Given the description of an element on the screen output the (x, y) to click on. 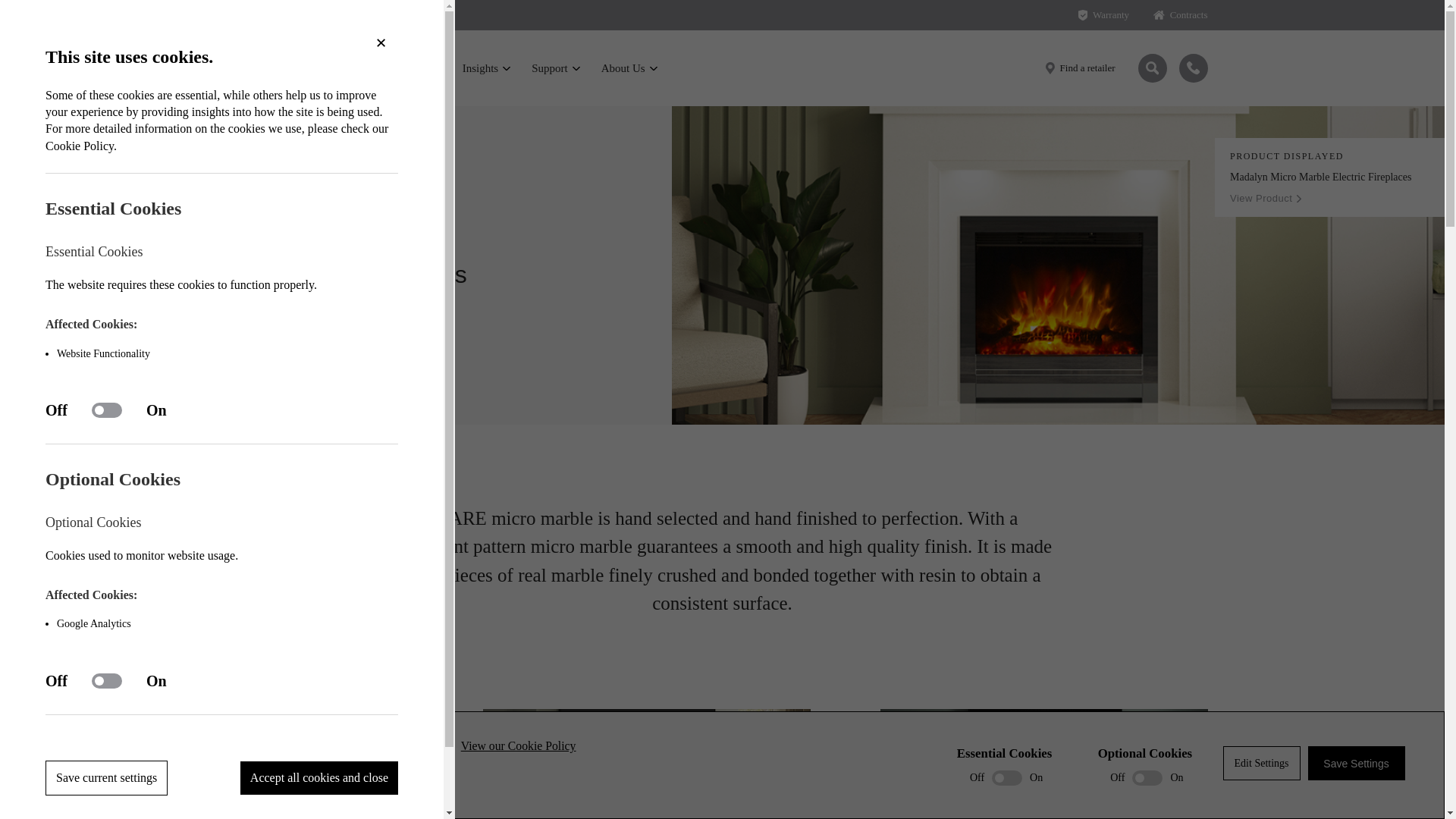
Return to the Be Modern Homepage (289, 67)
Contact us today (1192, 68)
Contracts (1180, 14)
View our retailer lists (1080, 67)
Insights (487, 68)
Search the Be Modern website (1151, 68)
A part of (288, 18)
Warranty (1103, 14)
Products (414, 68)
